Given the description of an element on the screen output the (x, y) to click on. 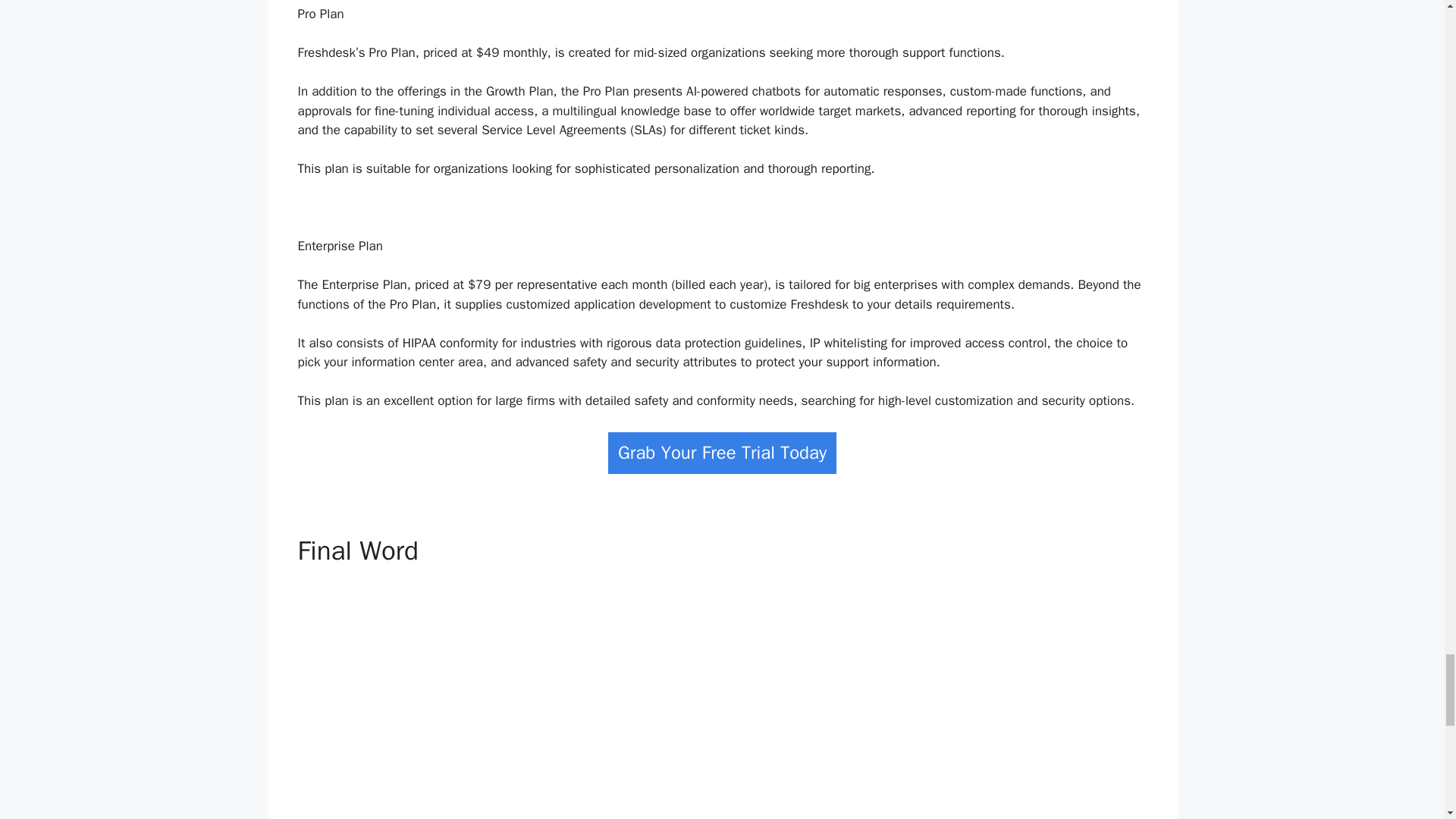
Grab Your Free Trial Today (721, 453)
